Given the description of an element on the screen output the (x, y) to click on. 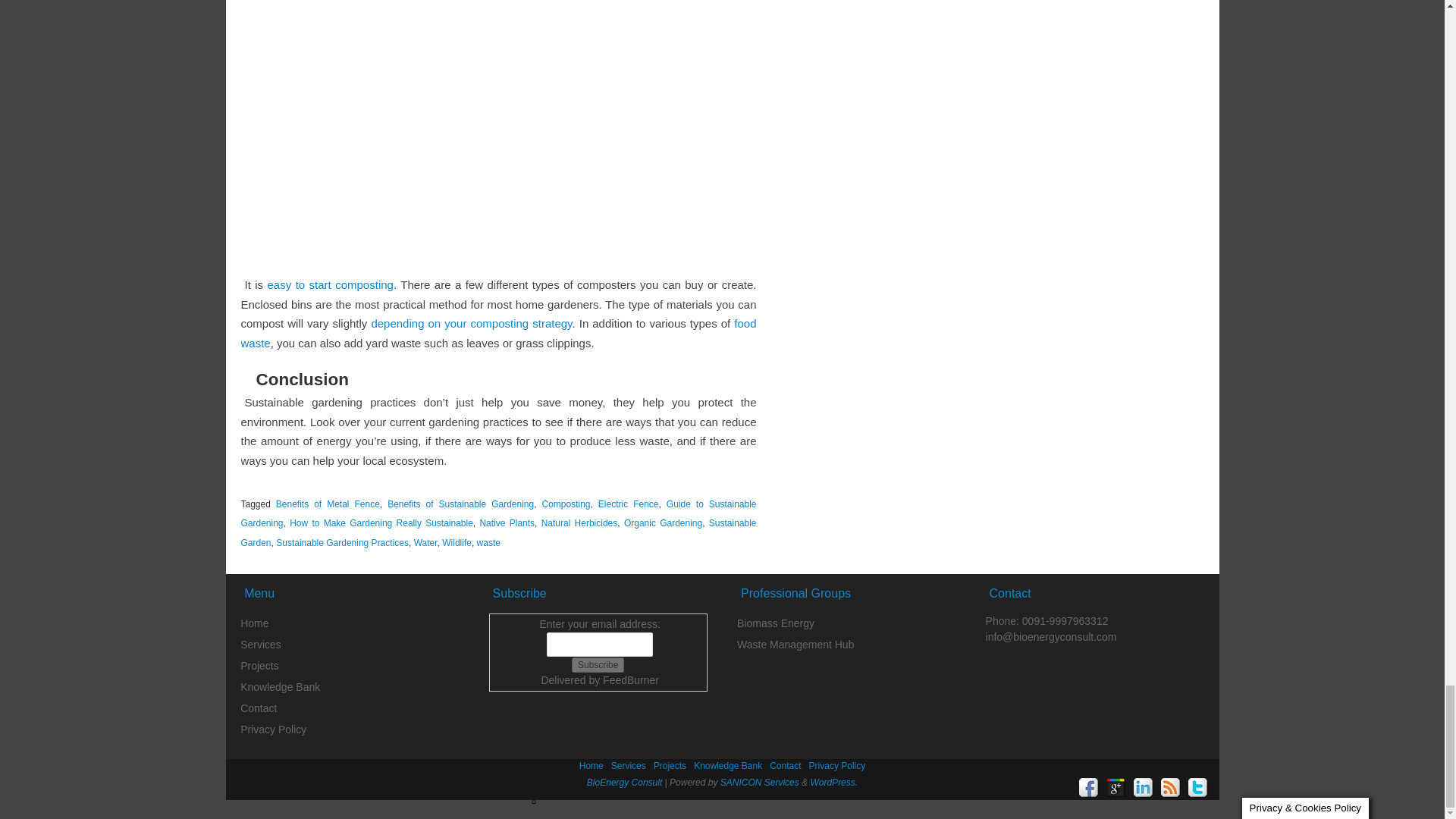
Subscribe (598, 664)
